Given the description of an element on the screen output the (x, y) to click on. 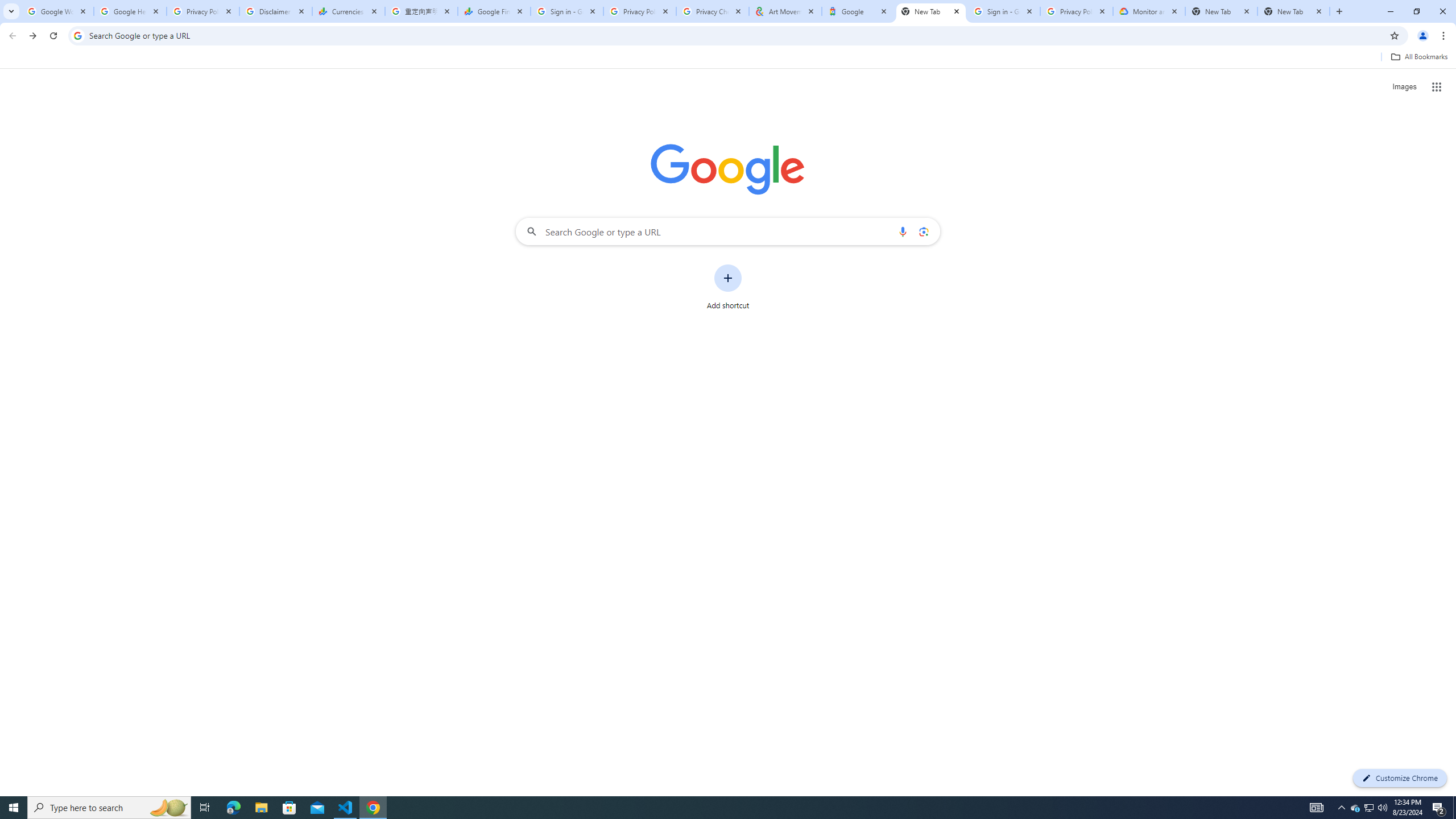
Sign in - Google Accounts (1003, 11)
Address and search bar (735, 35)
Chrome (1445, 35)
Google apps (1436, 86)
Bookmarks (728, 58)
Google (857, 11)
All Bookmarks (1418, 56)
Forward (32, 35)
Customize Chrome (1399, 778)
Add shortcut (727, 287)
You (1422, 35)
